Given the description of an element on the screen output the (x, y) to click on. 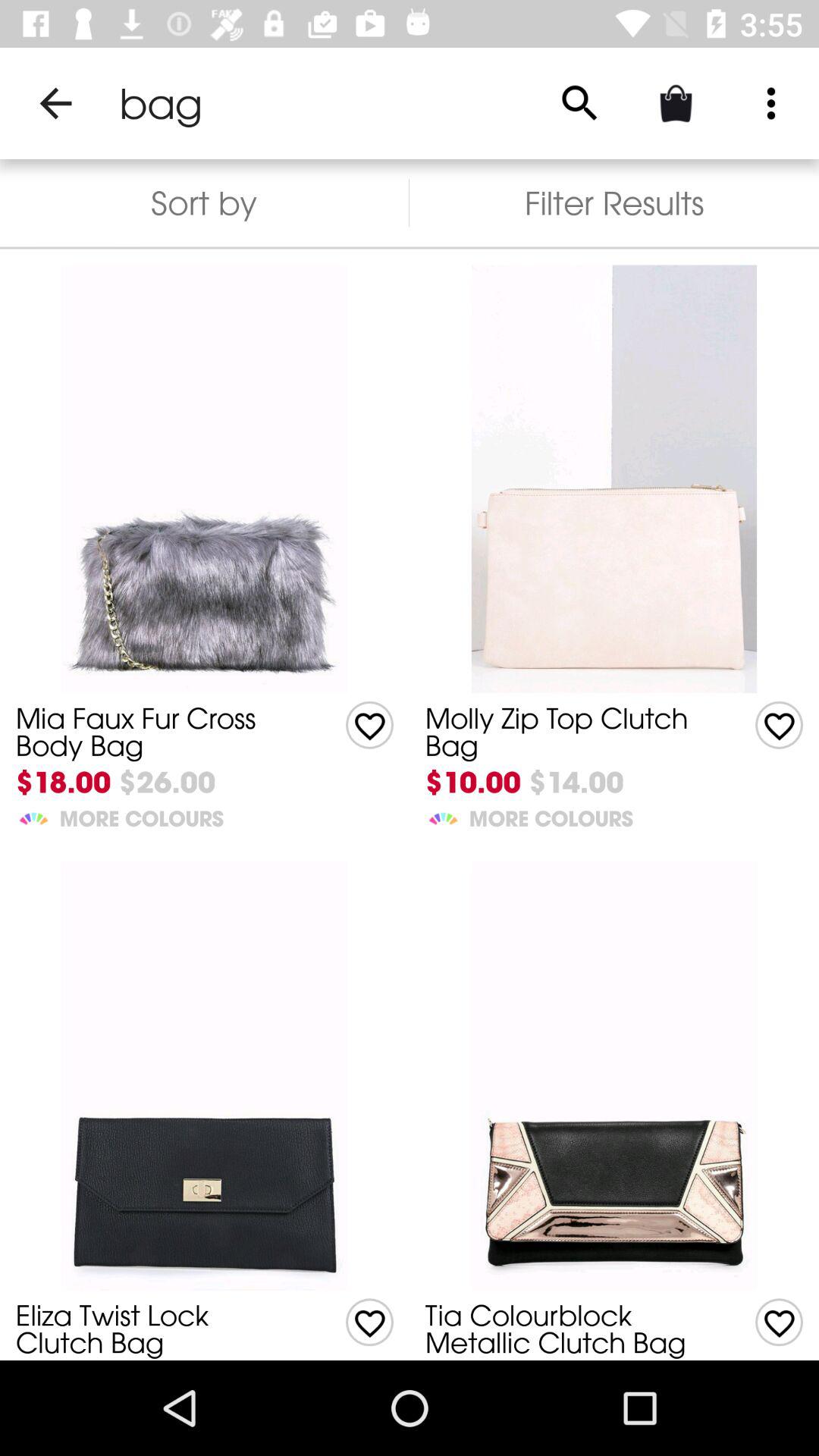
give like (779, 1322)
